Given the description of an element on the screen output the (x, y) to click on. 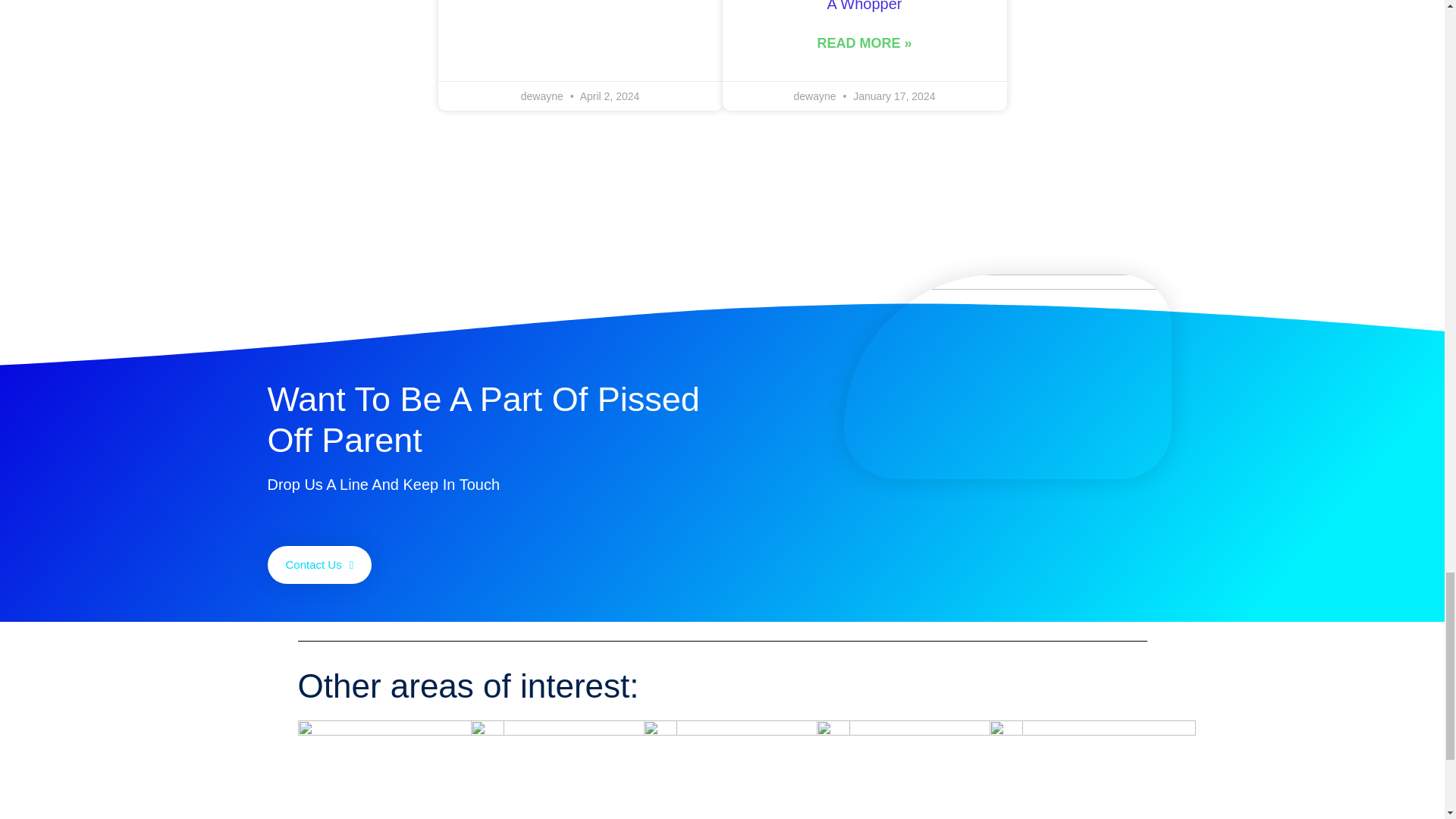
Contact Us (318, 564)
Feminist Lies, And A Response To A Whopper (863, 6)
